Given the description of an element on the screen output the (x, y) to click on. 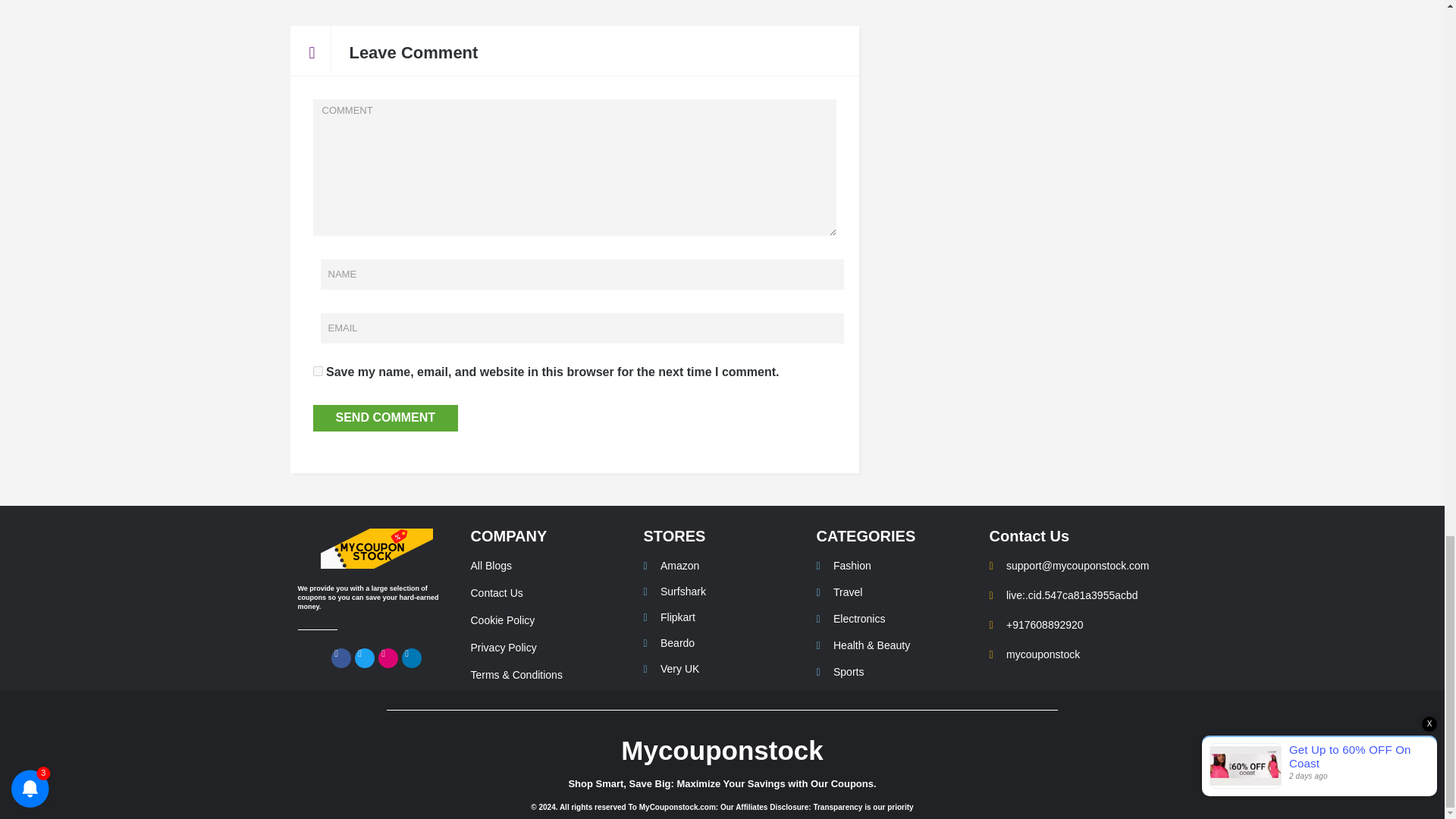
Send Comment (385, 417)
Send Comment (385, 417)
yes (317, 370)
